Given the description of an element on the screen output the (x, y) to click on. 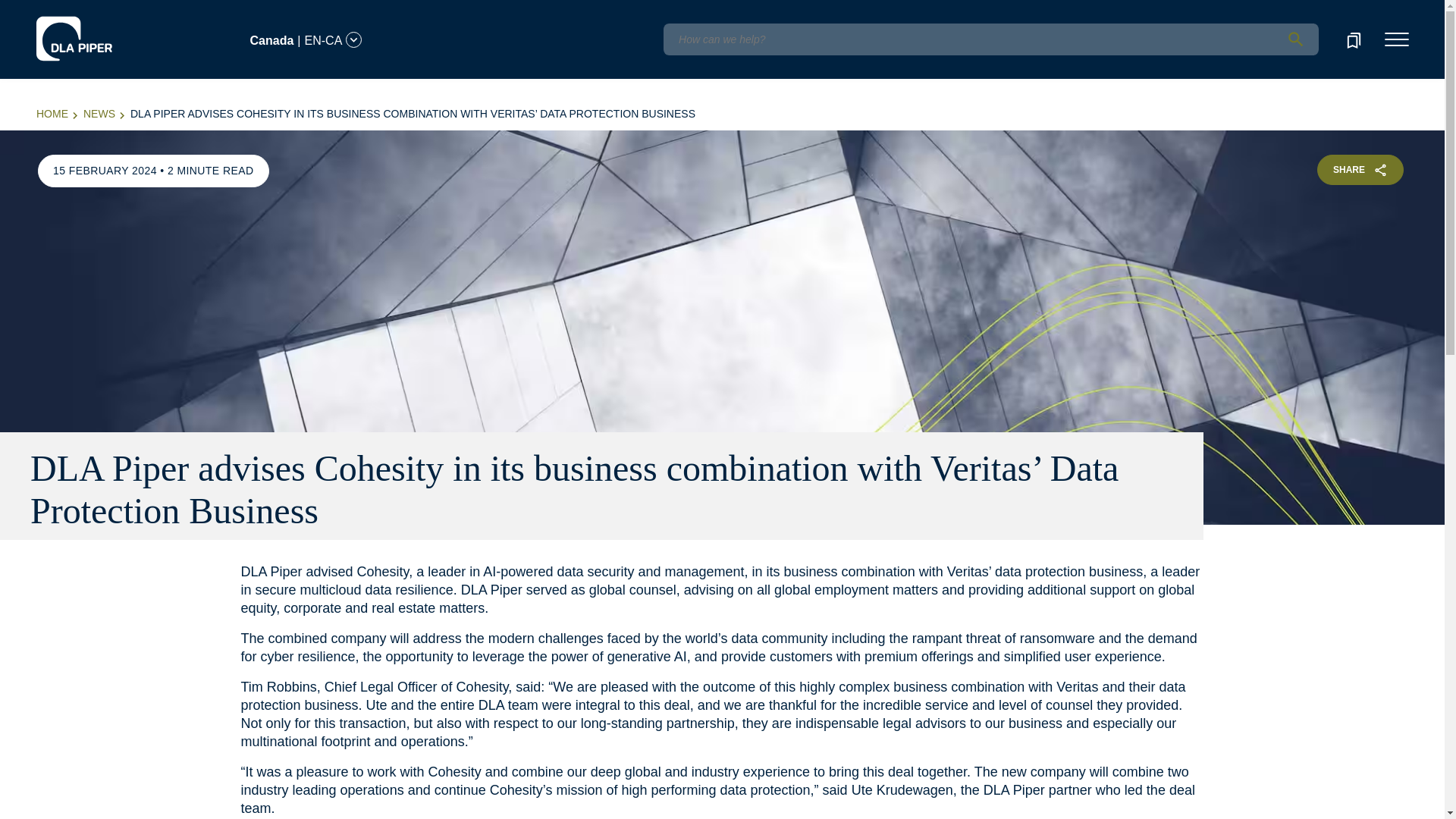
English (115, 11)
English (116, 31)
Insert a query. Press enter to send (990, 39)
Deutsch (157, 11)
